Given the description of an element on the screen output the (x, y) to click on. 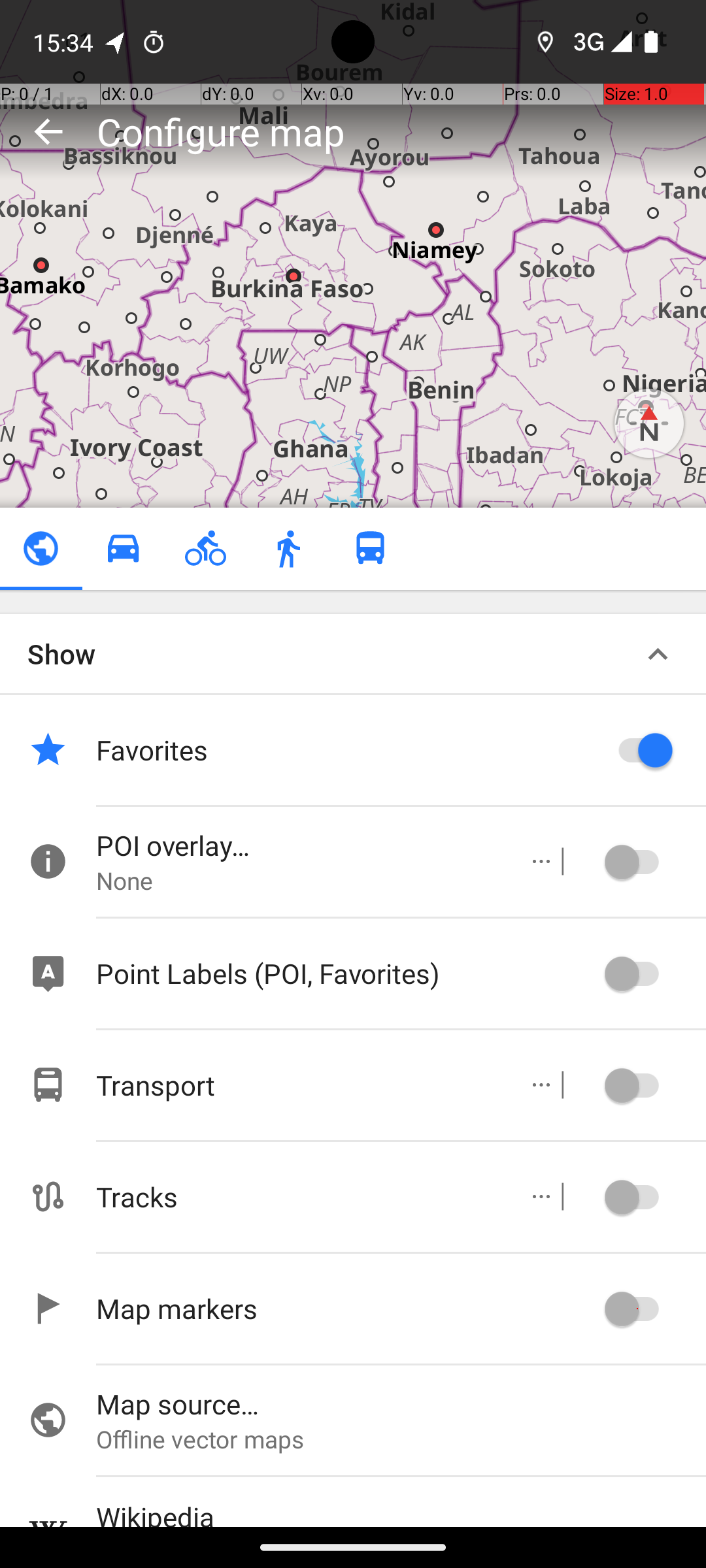
Browse map checked Element type: android.widget.ImageView (40, 548)
